Given the description of an element on the screen output the (x, y) to click on. 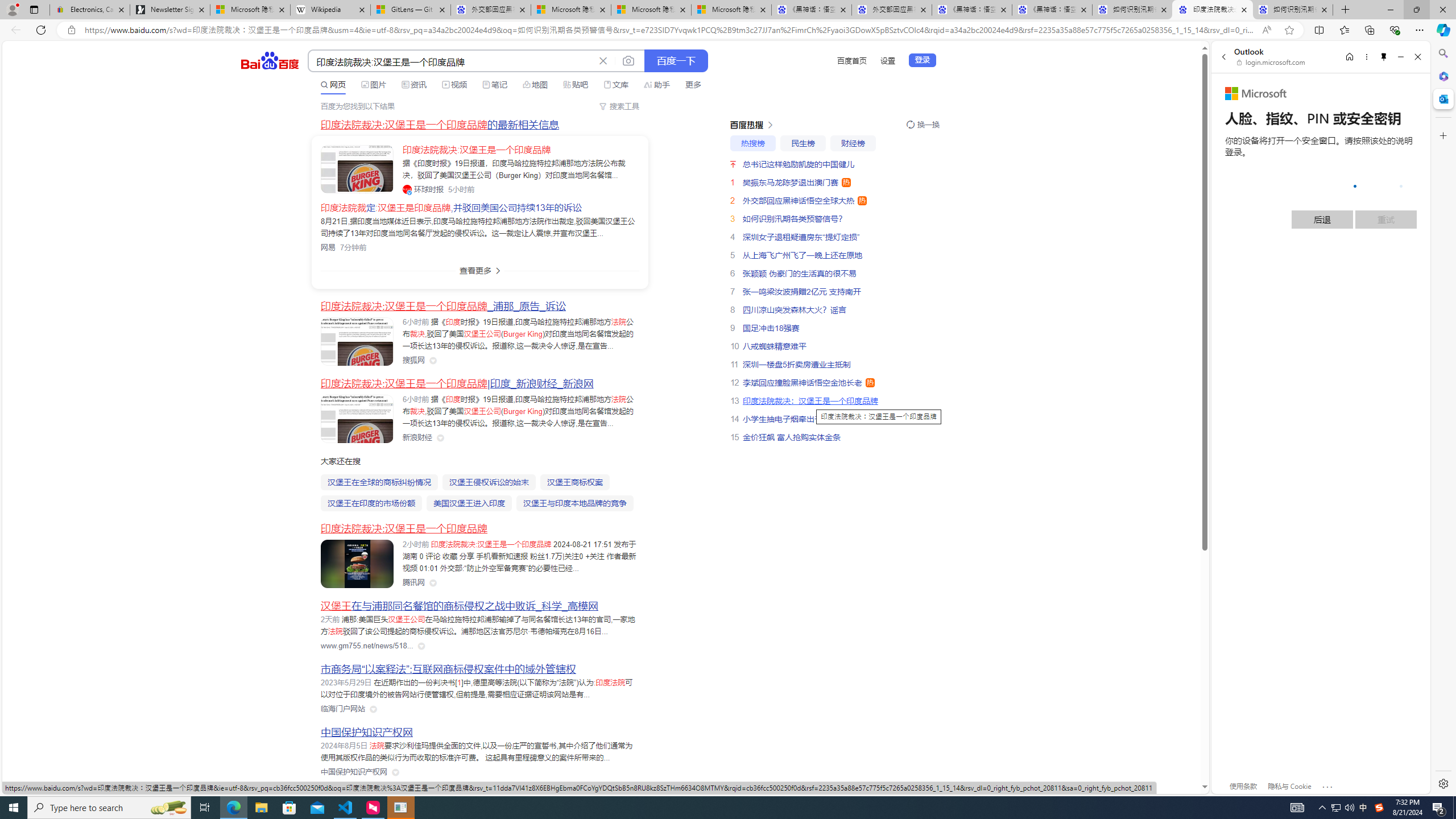
Class: c-img c-img-radius-large (356, 168)
